Given the description of an element on the screen output the (x, y) to click on. 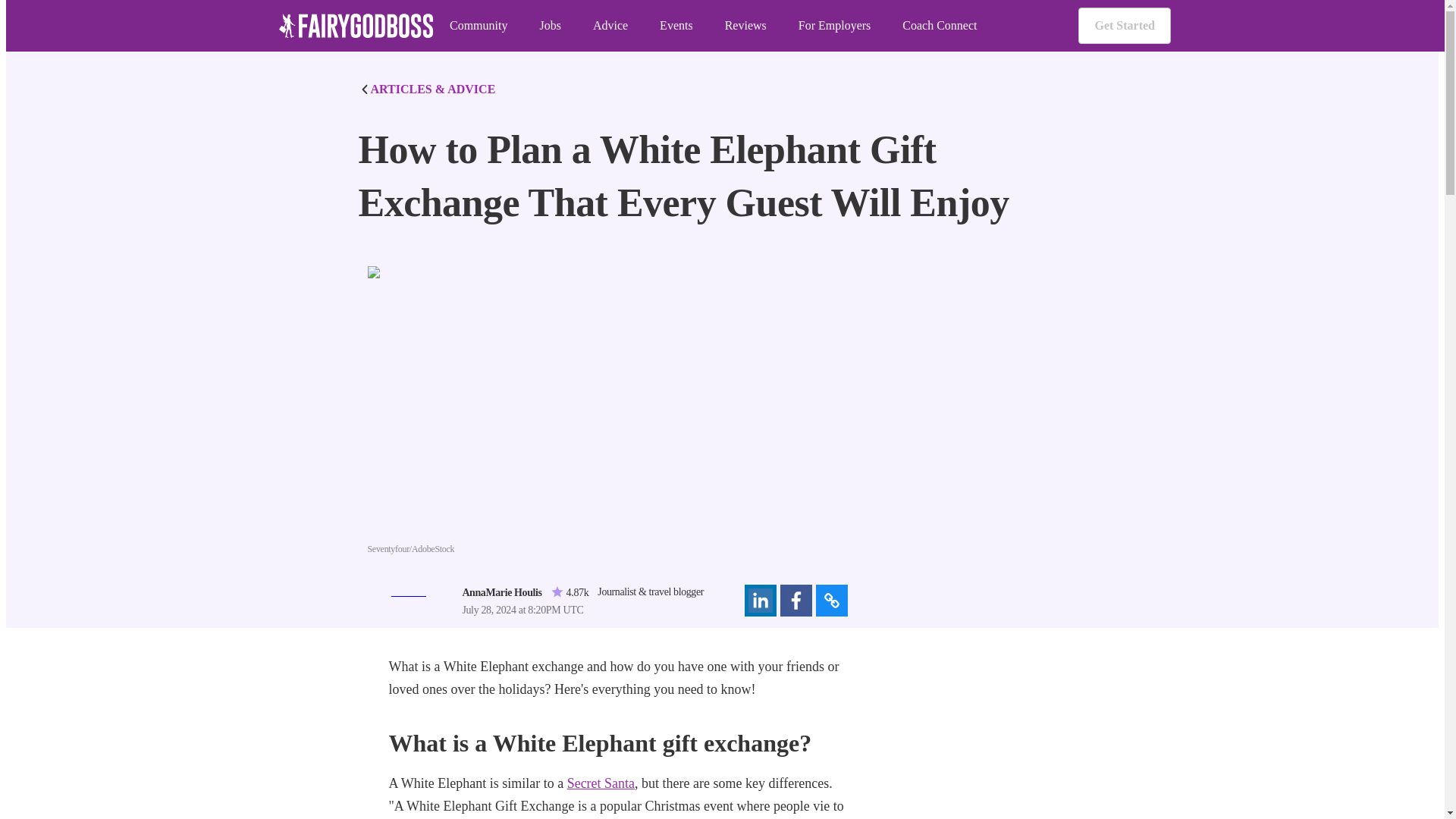
Coach Connect (939, 25)
For Employers (833, 25)
Jobs (549, 25)
Reviews (746, 25)
Secret Santa (600, 783)
Advice (609, 25)
Jobs (549, 25)
Get Started (1124, 25)
Advice (609, 25)
Events (676, 25)
Events (676, 25)
Community (477, 25)
Community (477, 25)
For Employers (833, 25)
Coach Connect (939, 25)
